Given the description of an element on the screen output the (x, y) to click on. 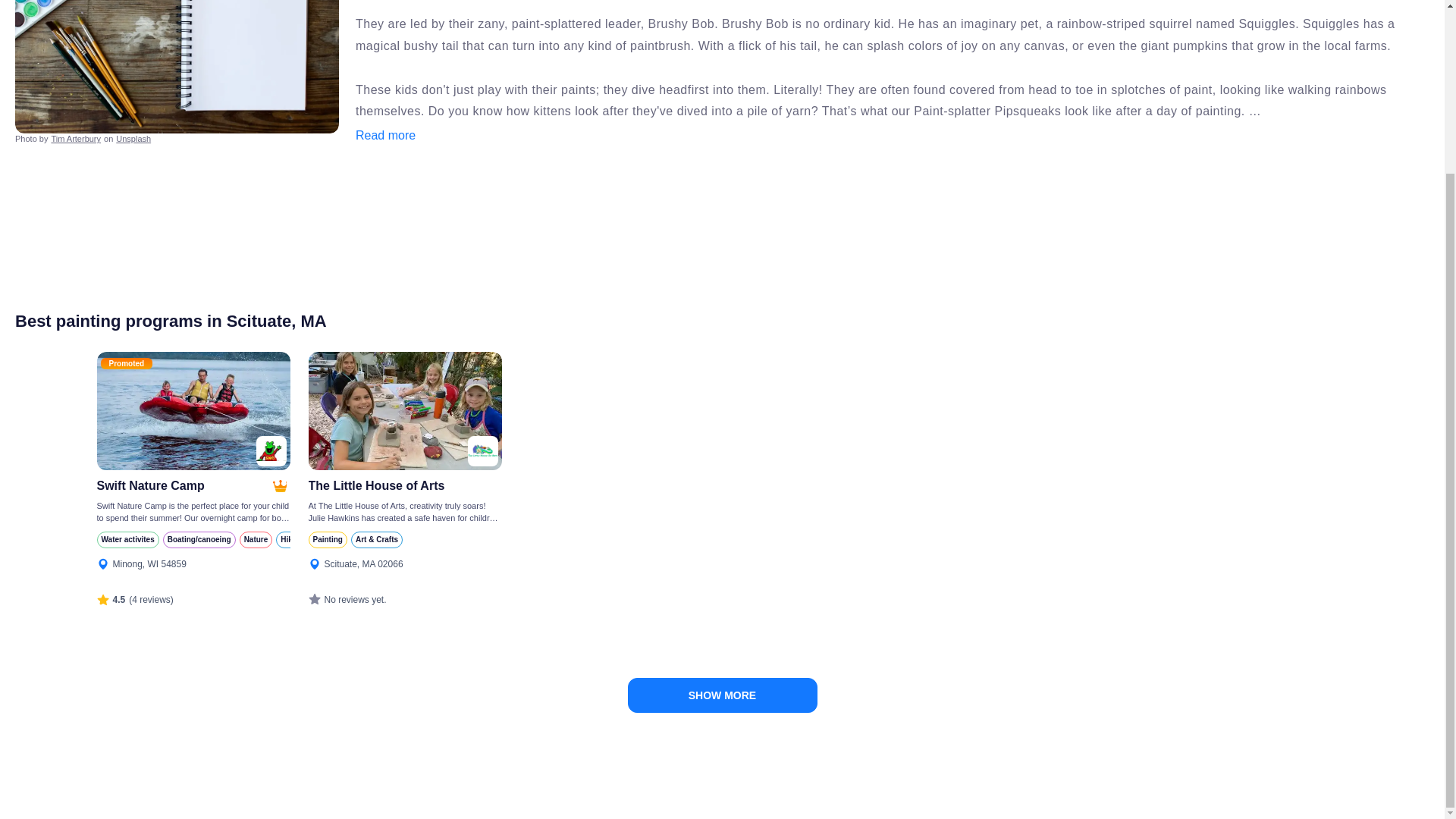
SHOW MORE (721, 695)
Painting (326, 539)
Swift Nature Camp (183, 485)
The Little House of Arts (403, 485)
Riflery (415, 539)
Tim Arterbury (75, 138)
Swift Nature Camp (183, 485)
Nature (256, 539)
Archery (490, 539)
No reviews yet. (346, 599)
